Given the description of an element on the screen output the (x, y) to click on. 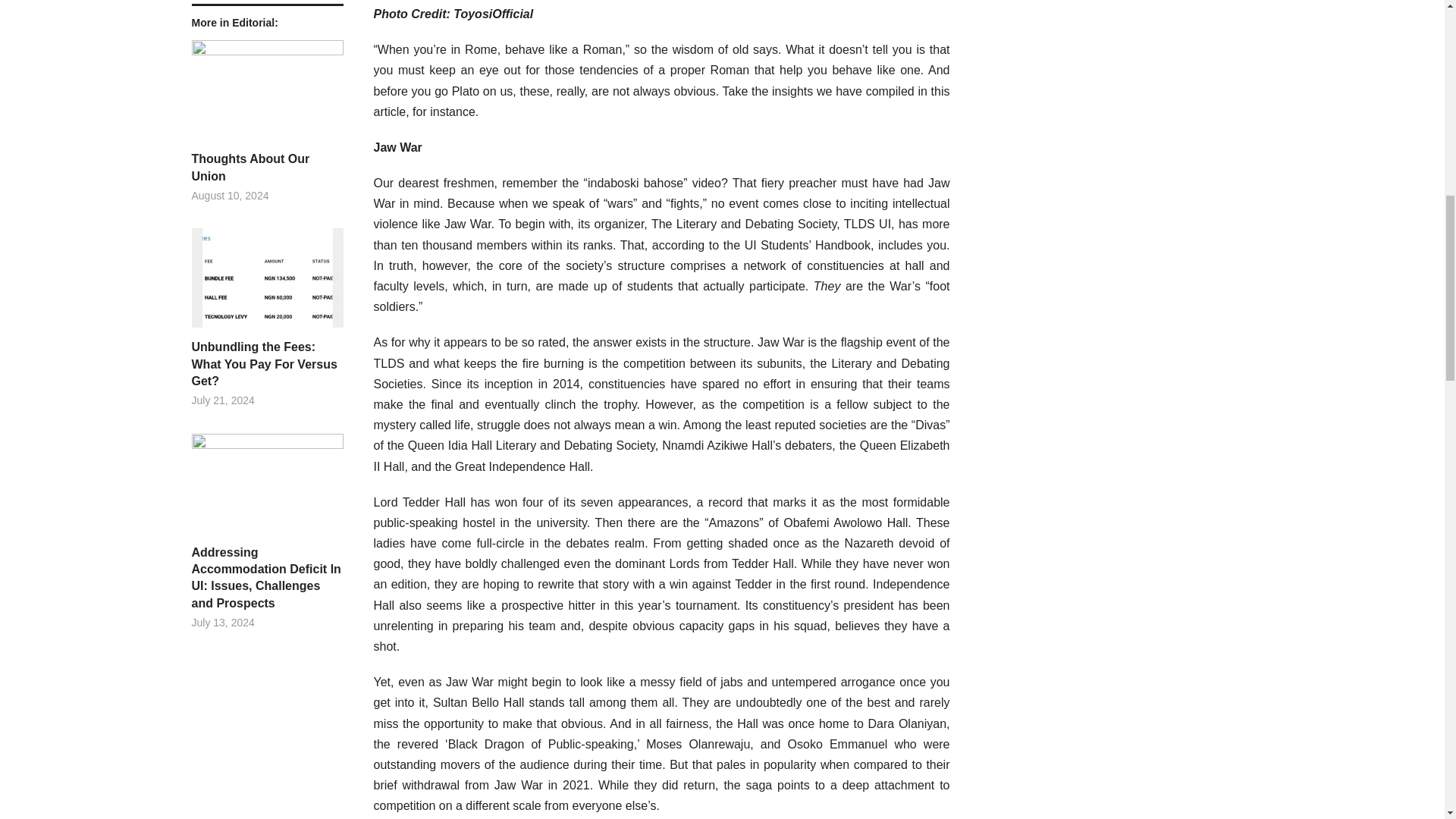
Thoughts About Our Union (266, 167)
Permalink to Thoughts About Our Union (266, 167)
Permalink to Thoughts About Our Union (266, 95)
